Given the description of an element on the screen output the (x, y) to click on. 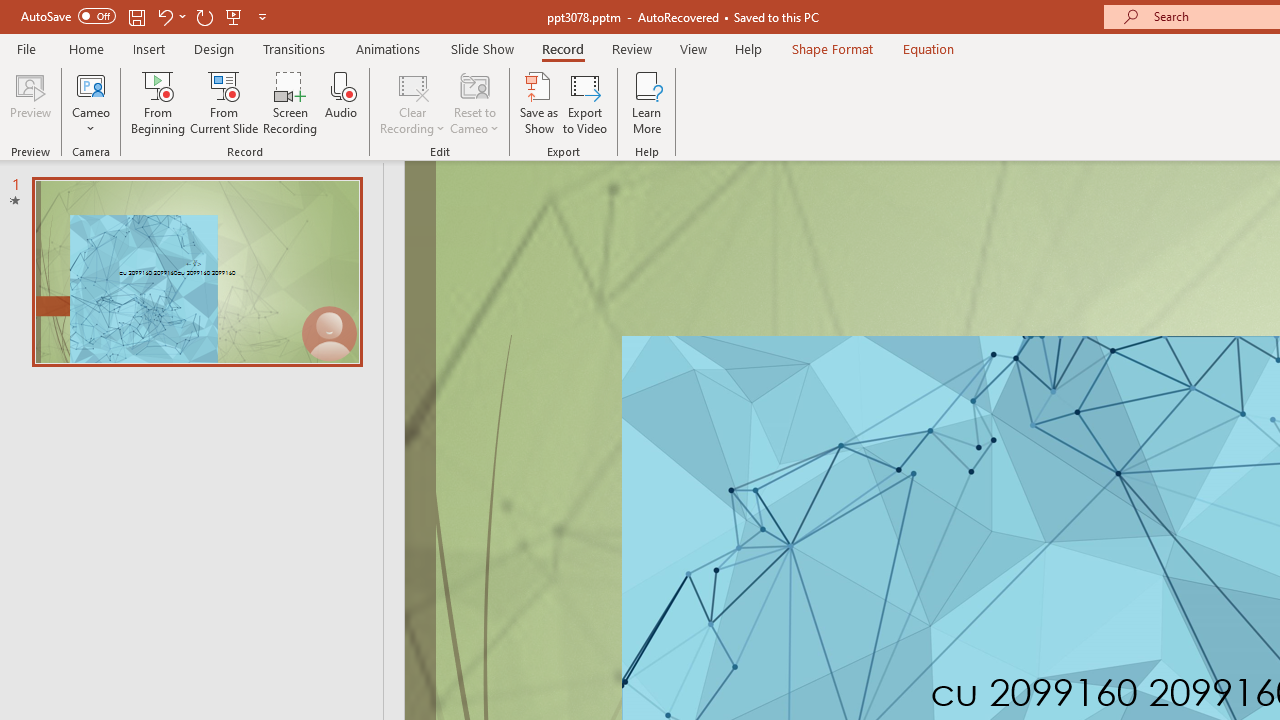
Save as Show (539, 102)
Preview (30, 102)
Export to Video (585, 102)
Clear Recording (412, 102)
Screen Recording (290, 102)
